Given the description of an element on the screen output the (x, y) to click on. 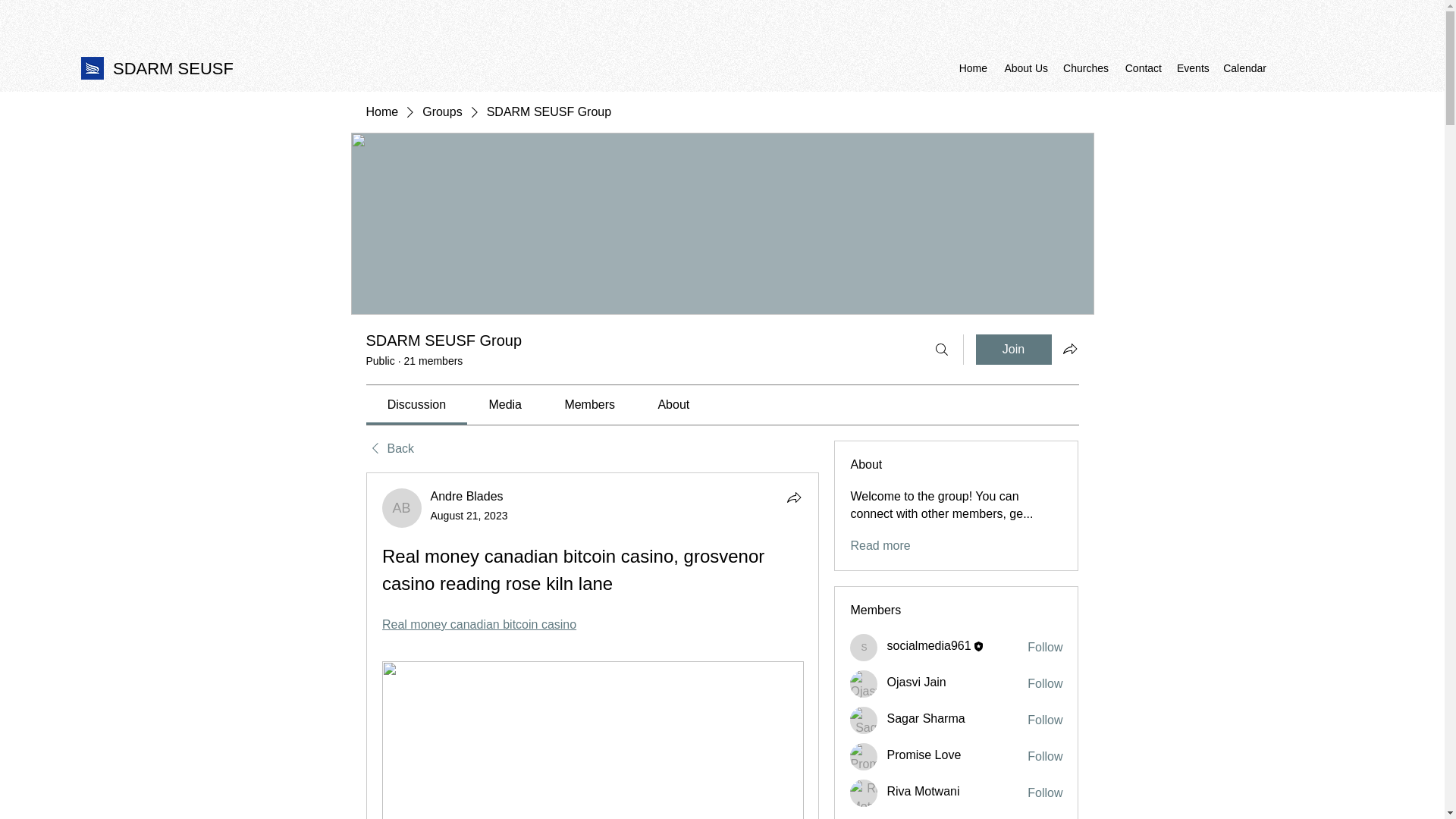
Riva Motwani (863, 792)
Ojasvi Jain (863, 683)
Events (1192, 67)
About Us (1024, 67)
Andre Blades (466, 495)
Promise Love (863, 756)
Back (389, 448)
Home (972, 67)
Calendar (1244, 67)
Home (381, 112)
Andre Blades (401, 507)
August 21, 2023 (469, 515)
socialmedia961 (863, 646)
Churches (1085, 67)
Contact (1142, 67)
